Given the description of an element on the screen output the (x, y) to click on. 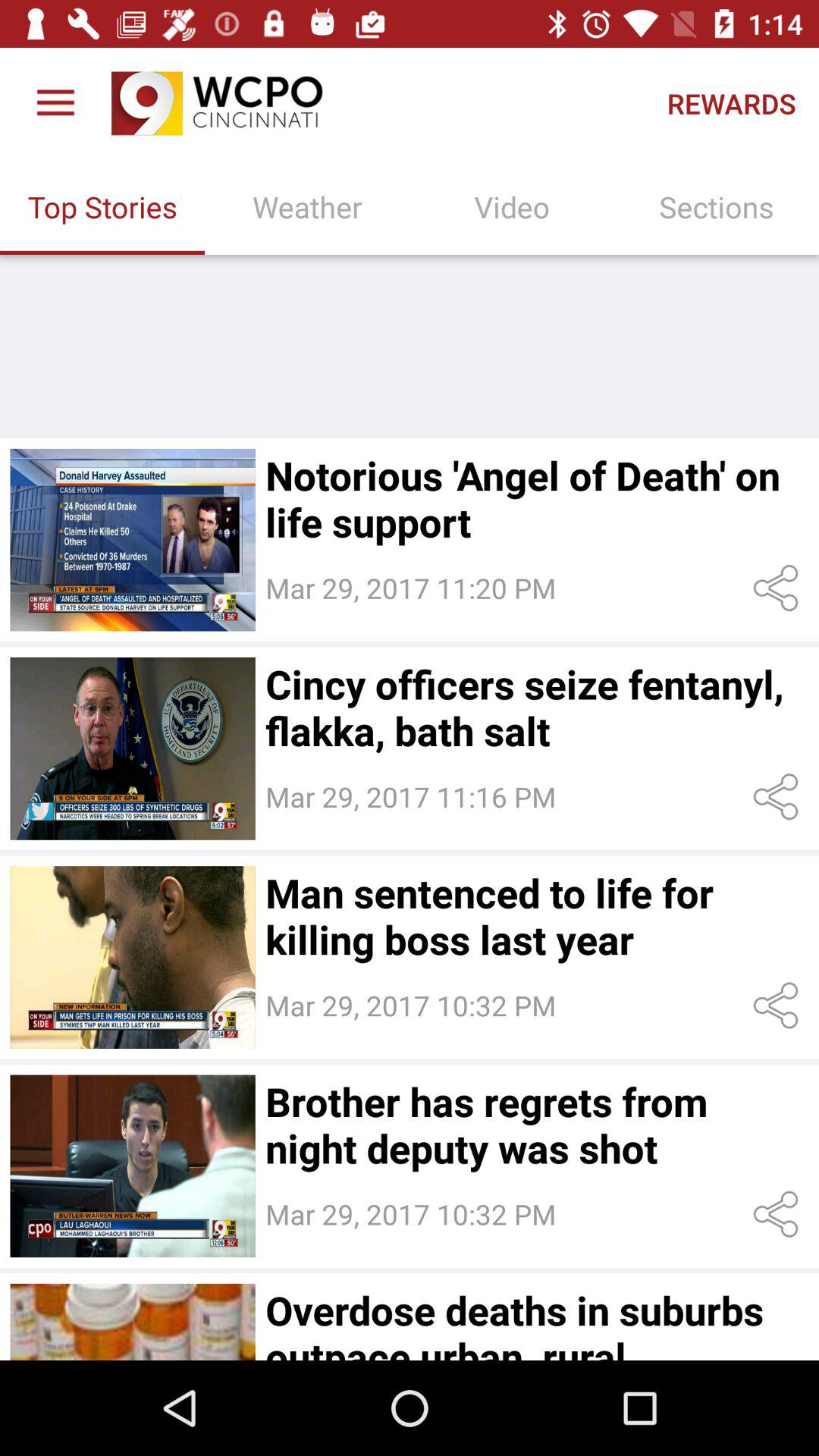
see article (132, 957)
